Given the description of an element on the screen output the (x, y) to click on. 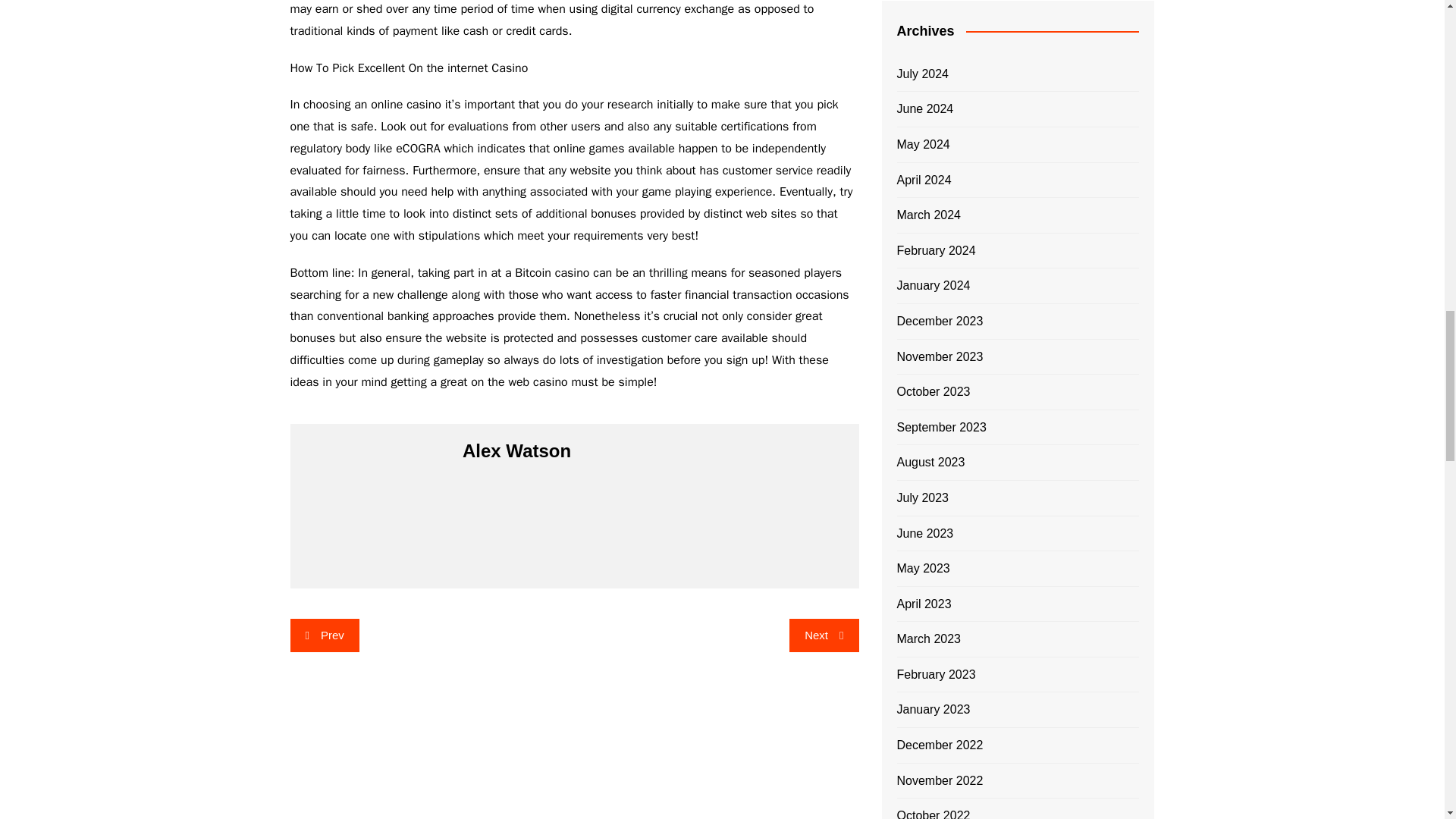
Prev (323, 635)
Next (824, 635)
